Given the description of an element on the screen output the (x, y) to click on. 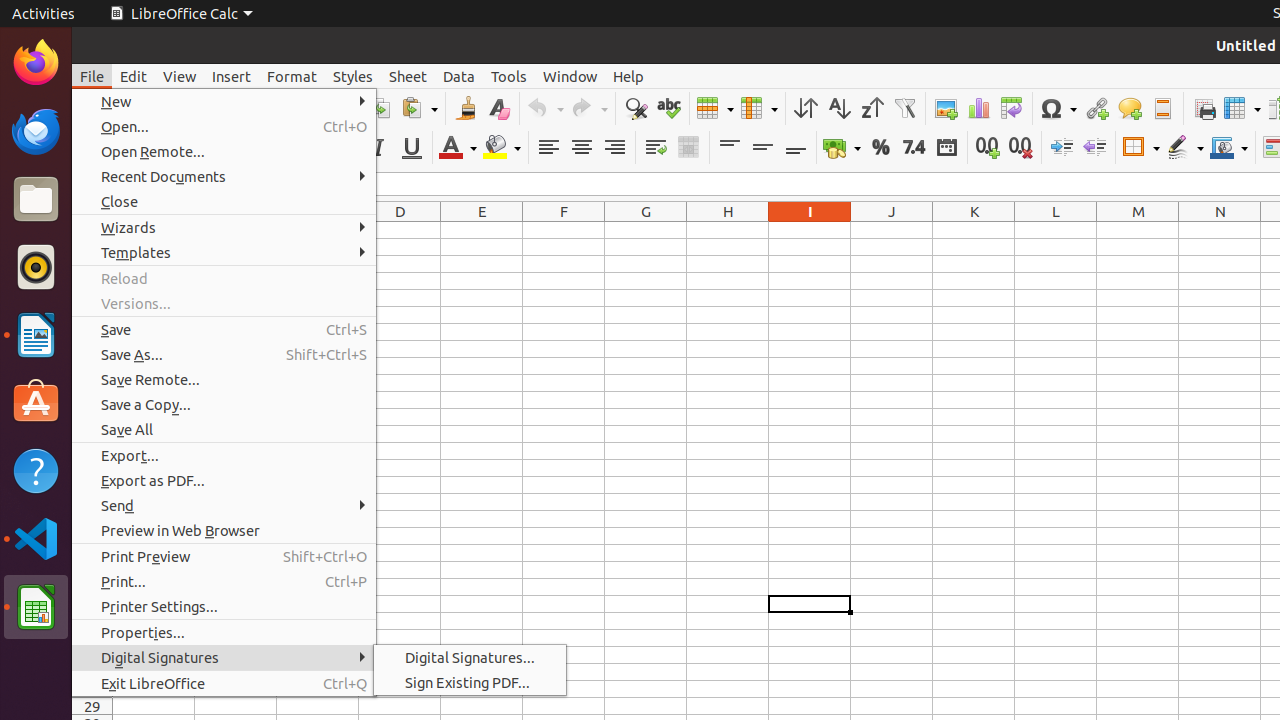
Sheet Element type: menu (408, 76)
N1 Element type: table-cell (1220, 230)
